Given the description of an element on the screen output the (x, y) to click on. 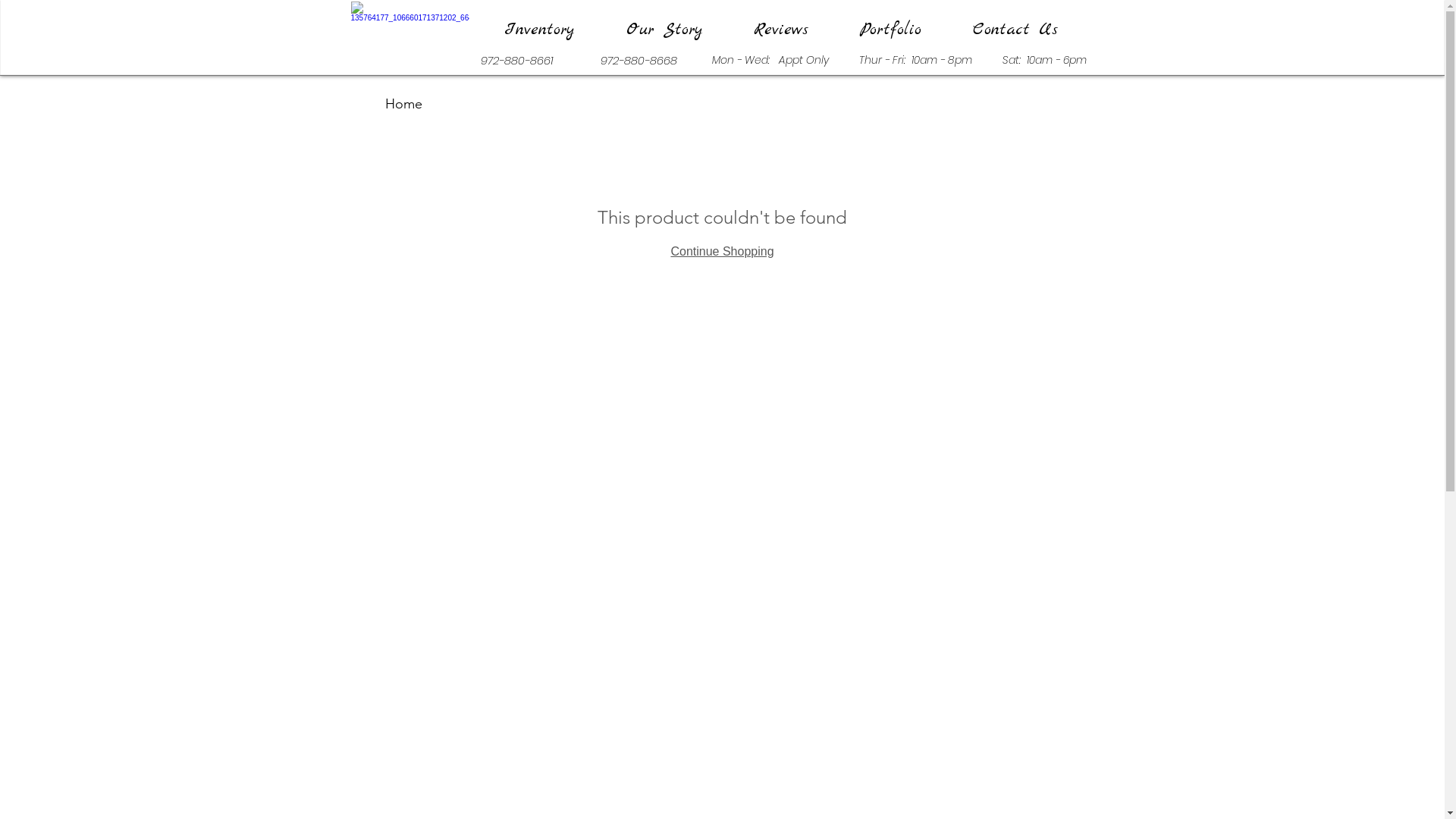
Refinished Furniture Element type: text (445, 103)
972-880-8668 Element type: text (638, 60)
Portfolio Element type: text (890, 29)
Contact Us Element type: text (1014, 29)
Our Story Element type: text (663, 29)
Continue Shopping Element type: text (721, 250)
Reviews Element type: text (781, 29)
972-880-8661 Element type: text (516, 60)
